Given the description of an element on the screen output the (x, y) to click on. 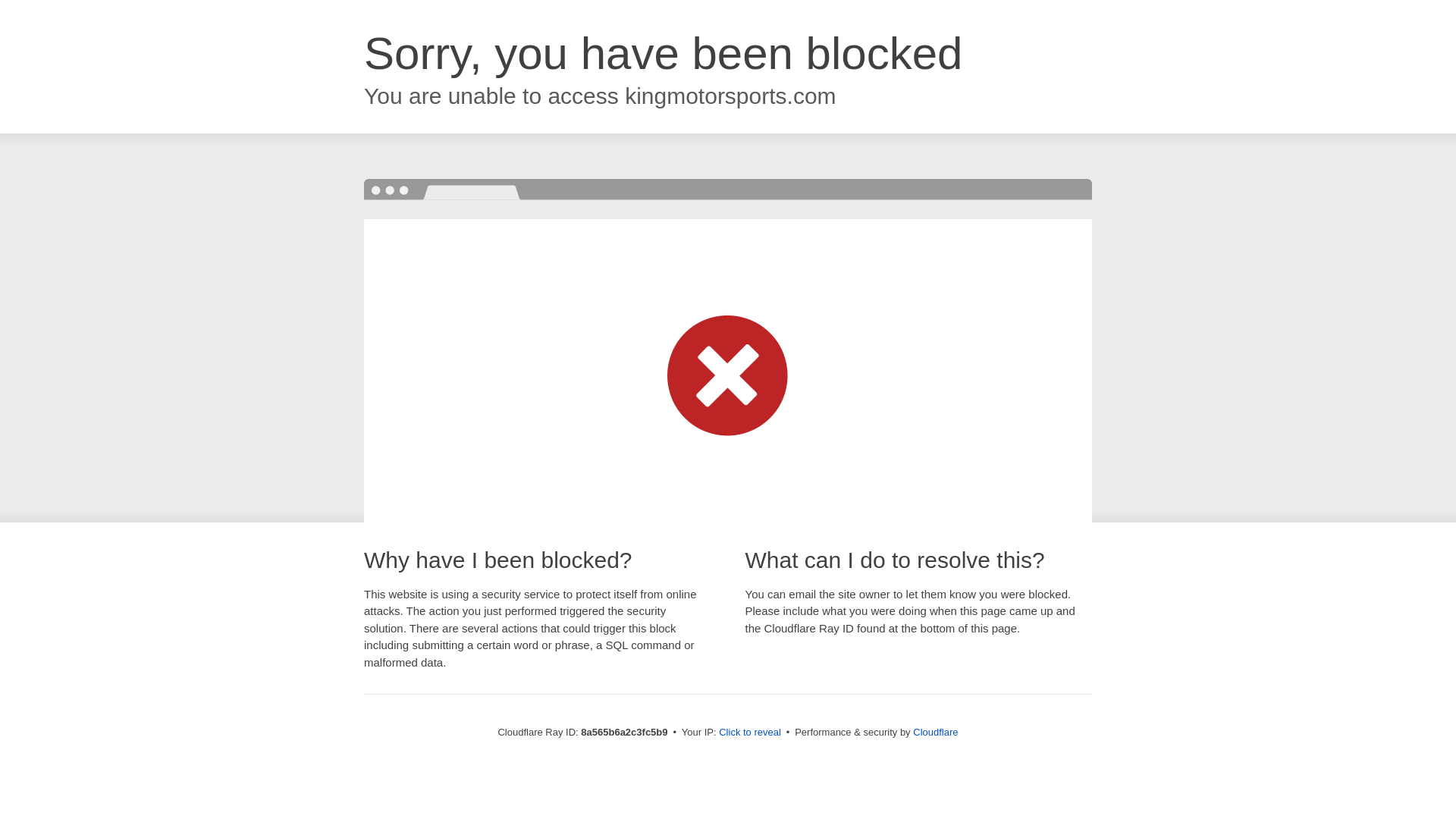
Click to reveal (749, 732)
Cloudflare (935, 731)
